Given the description of an element on the screen output the (x, y) to click on. 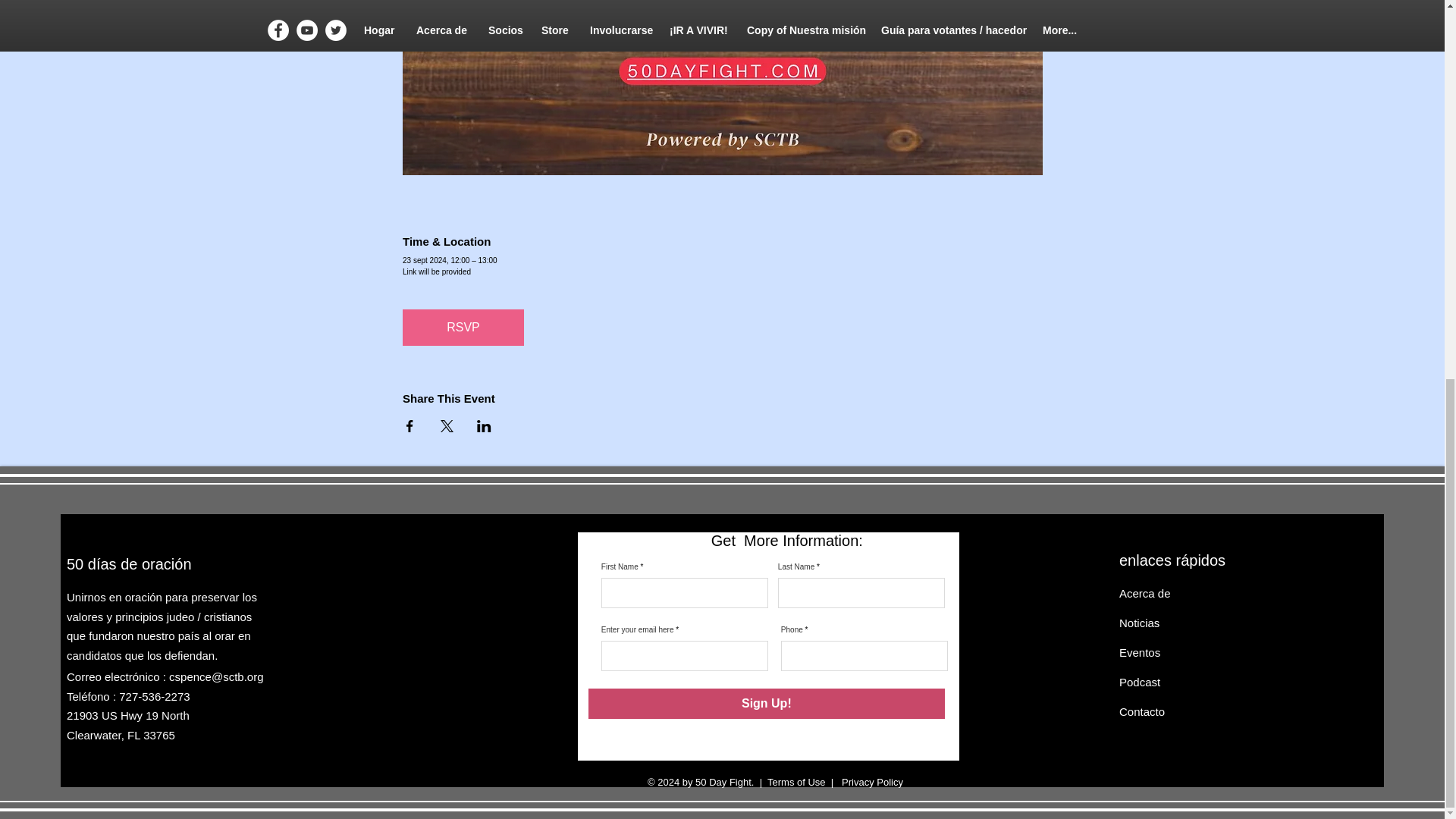
RSVP (463, 327)
Contacto (1141, 711)
Podcast (1139, 681)
Terms of Use (796, 781)
Noticias (1138, 622)
Eventos (1139, 652)
Acerca de (1144, 593)
Sign Up! (766, 703)
 Privacy Policy (870, 781)
